Given the description of an element on the screen output the (x, y) to click on. 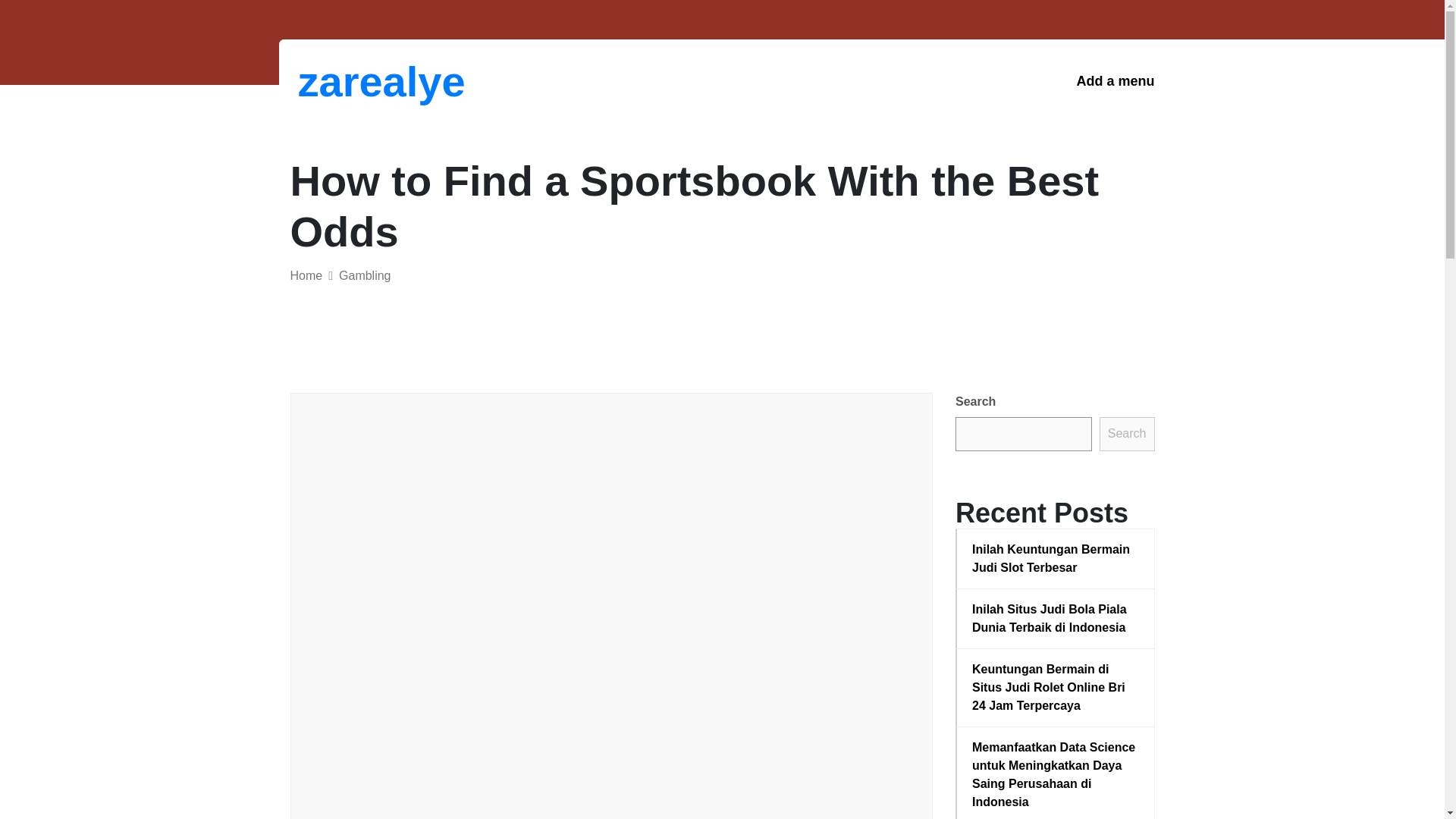
zarealye (376, 81)
Add a menu (1114, 81)
Inilah Situs Judi Bola Piala Dunia Terbaik di Indonesia (1055, 618)
Search (1126, 433)
How to Find a Sportsbook With the Best Odds (585, 492)
May 12, 2022 (438, 437)
Home (305, 275)
Inilah Keuntungan Bermain Judi Slot Terbesar (1055, 558)
